Given the description of an element on the screen output the (x, y) to click on. 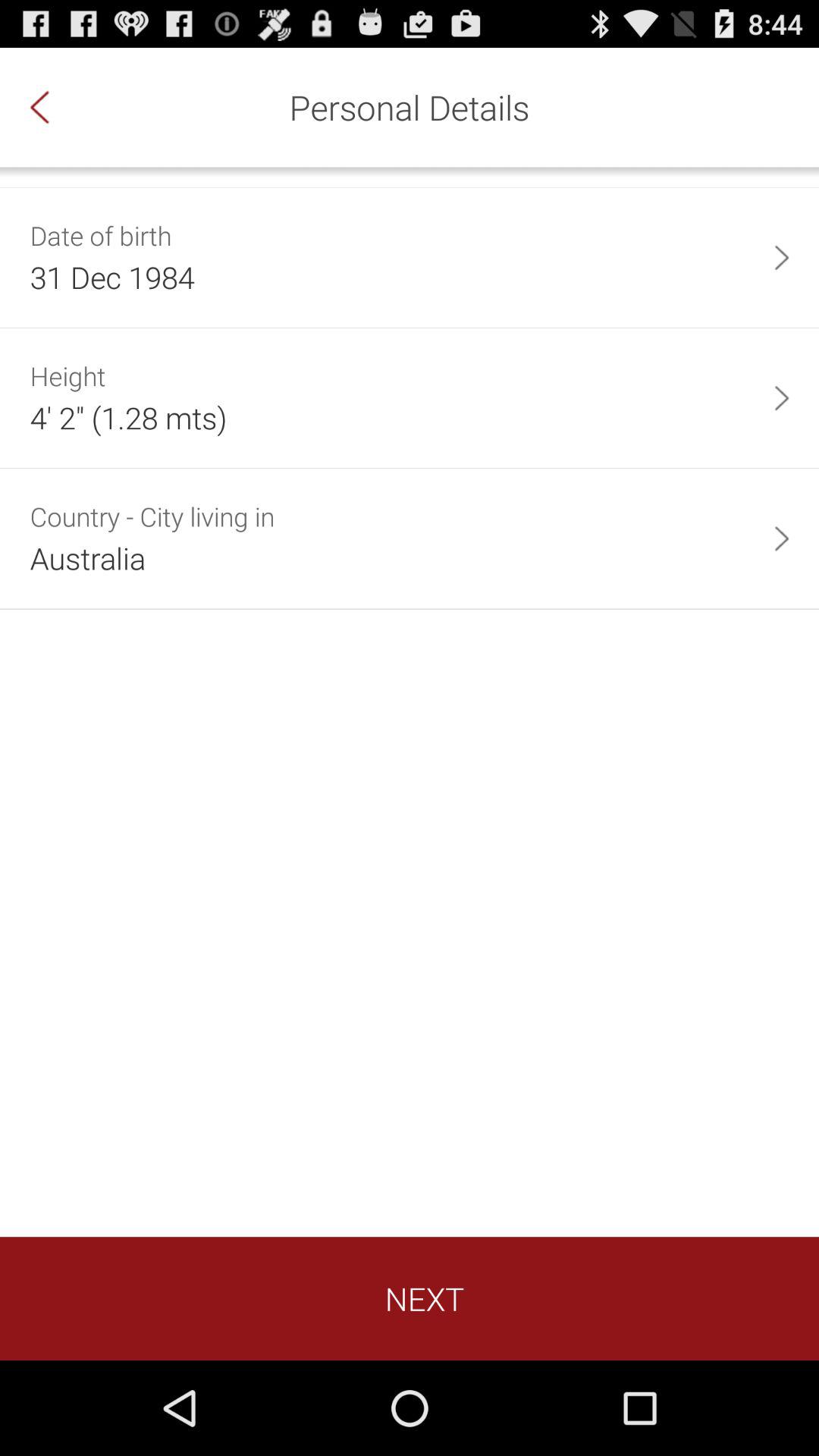
press the icon to the right of the 4 2 1 app (781, 397)
